Given the description of an element on the screen output the (x, y) to click on. 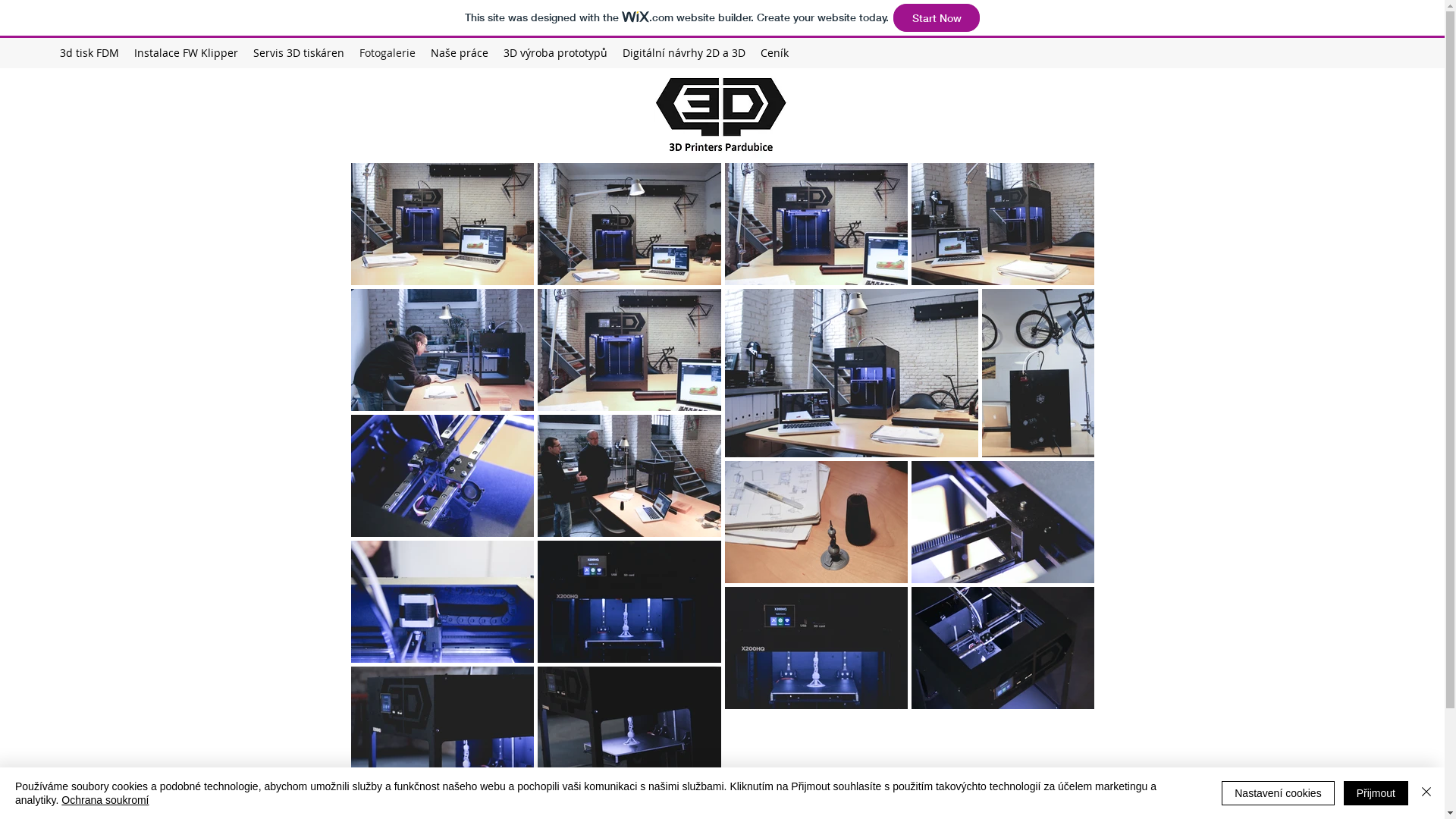
Instalace FW Klipper Element type: text (185, 52)
Fotogalerie Element type: text (387, 52)
3d tisk FDM Element type: text (89, 52)
